Given the description of an element on the screen output the (x, y) to click on. 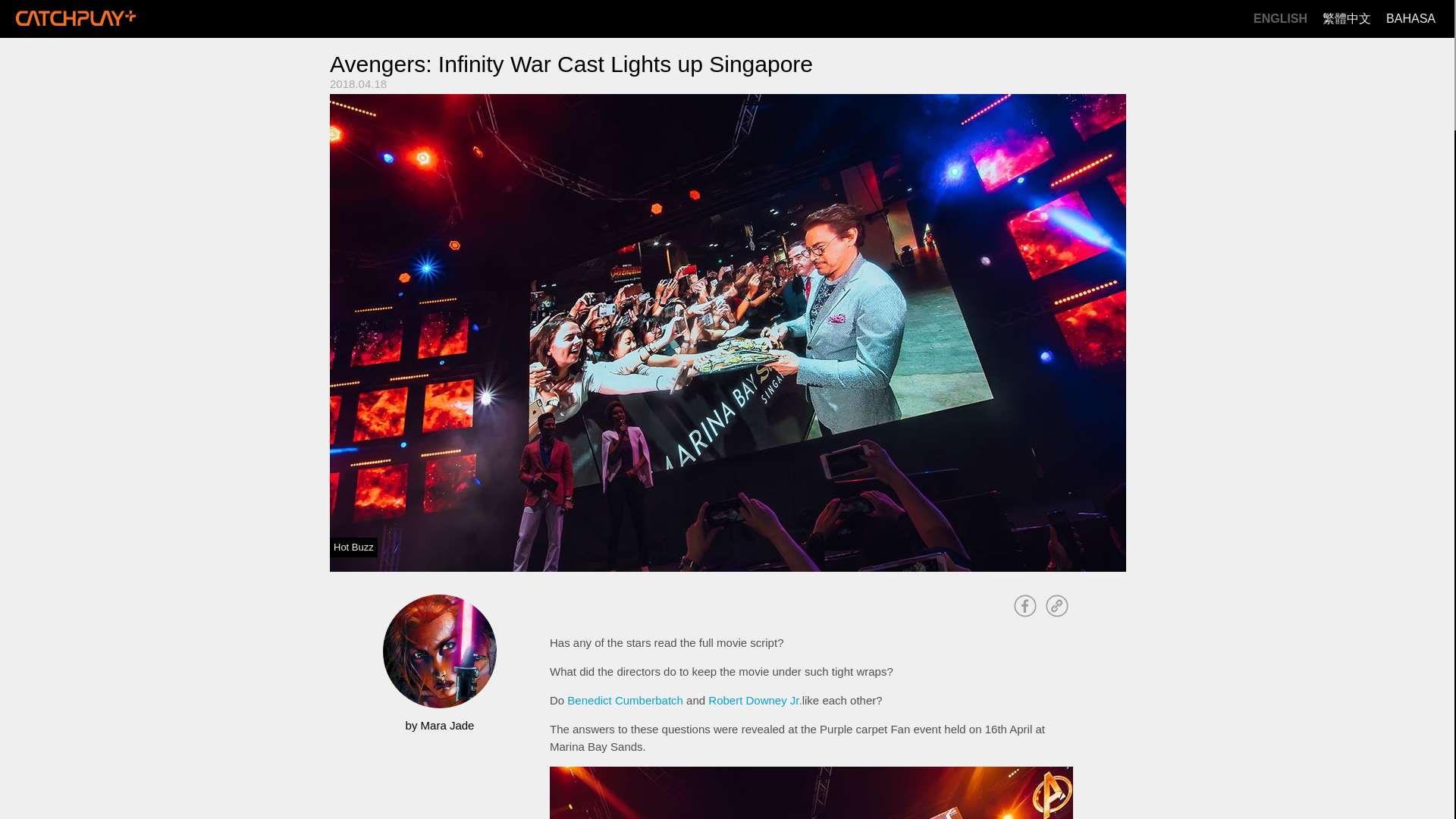
Benedict Cumberbatch (624, 699)
BAHASA (1410, 19)
ENGLISH (1280, 19)
Robert Downey Jr. (754, 699)
